Given the description of an element on the screen output the (x, y) to click on. 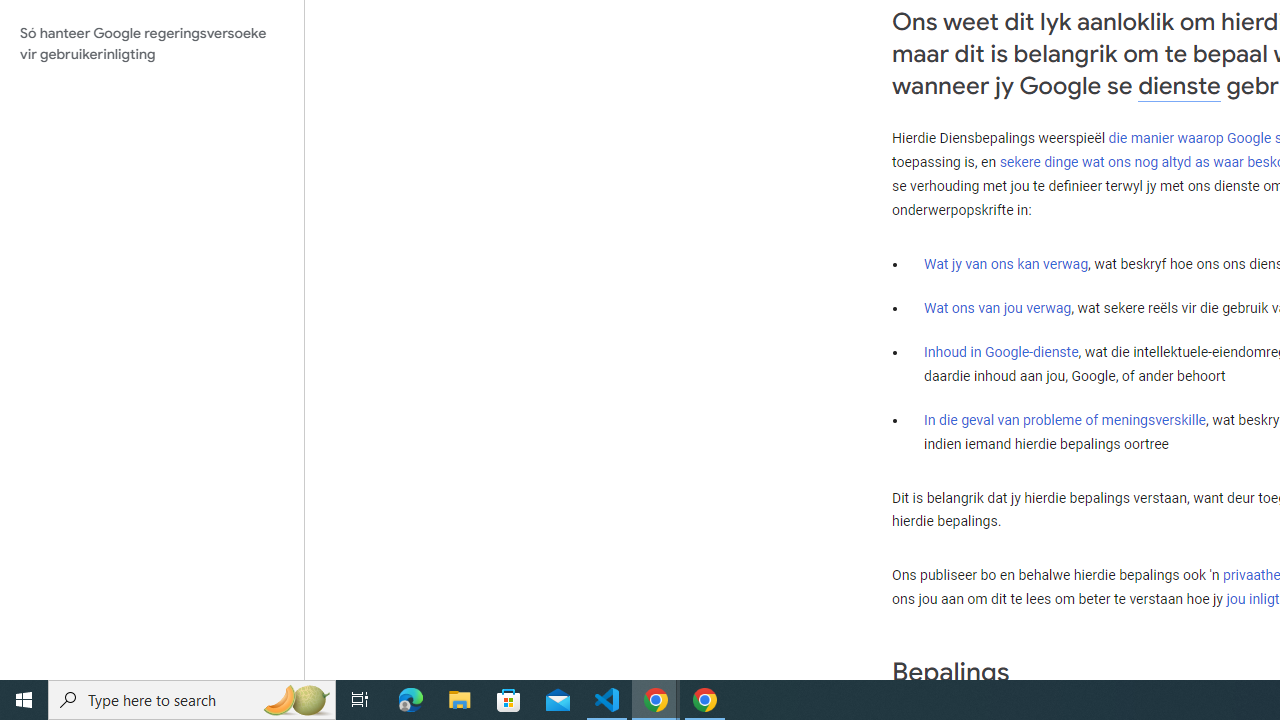
dienste (1179, 85)
Wat ons van jou verwag (998, 307)
In die geval van probleme of meningsverskille (1064, 420)
Wat jy van ons kan verwag (1006, 263)
Inhoud in Google-dienste (1001, 351)
